Given the description of an element on the screen output the (x, y) to click on. 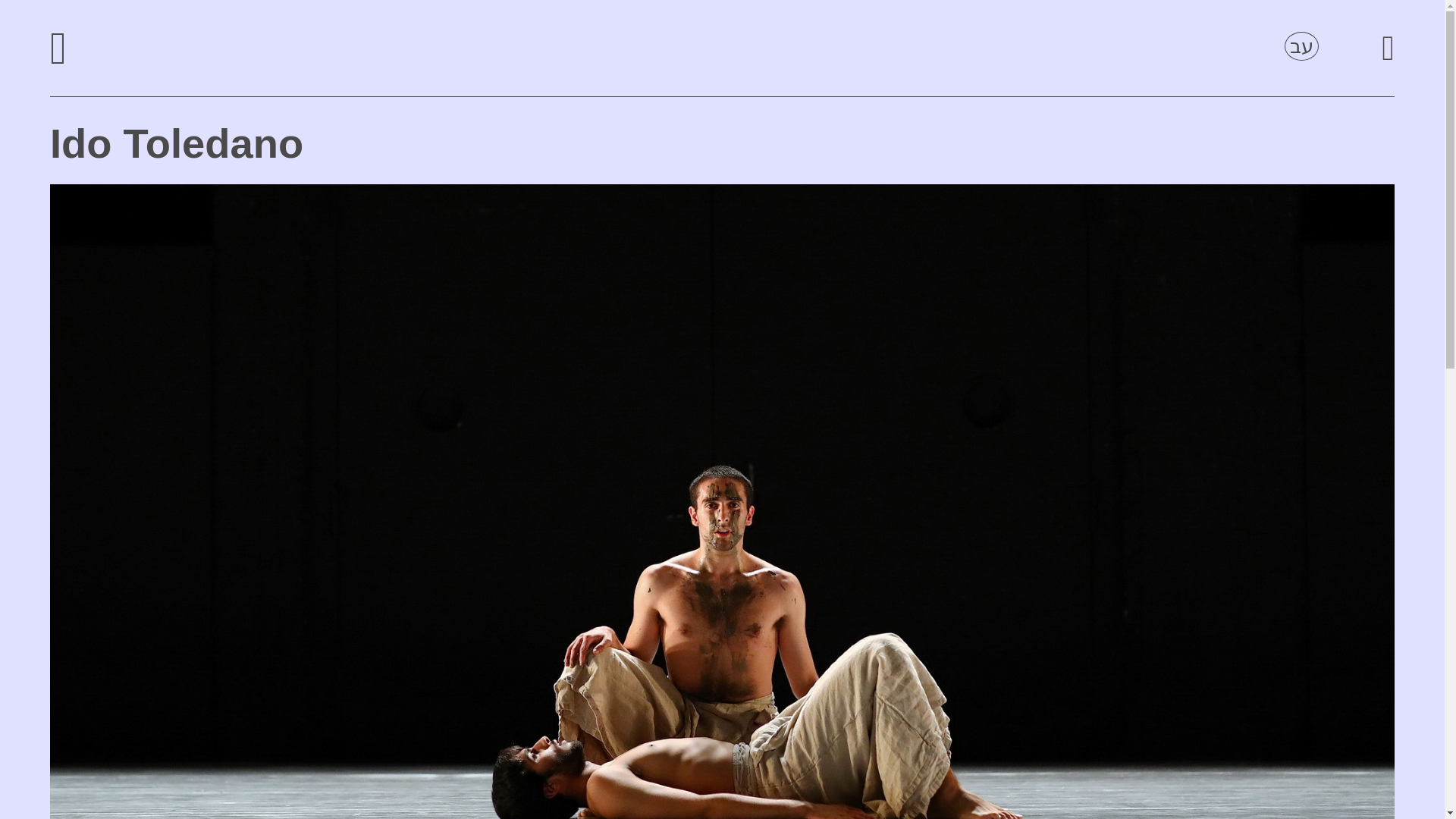
Bat Sheva (721, 48)
